Given the description of an element on the screen output the (x, y) to click on. 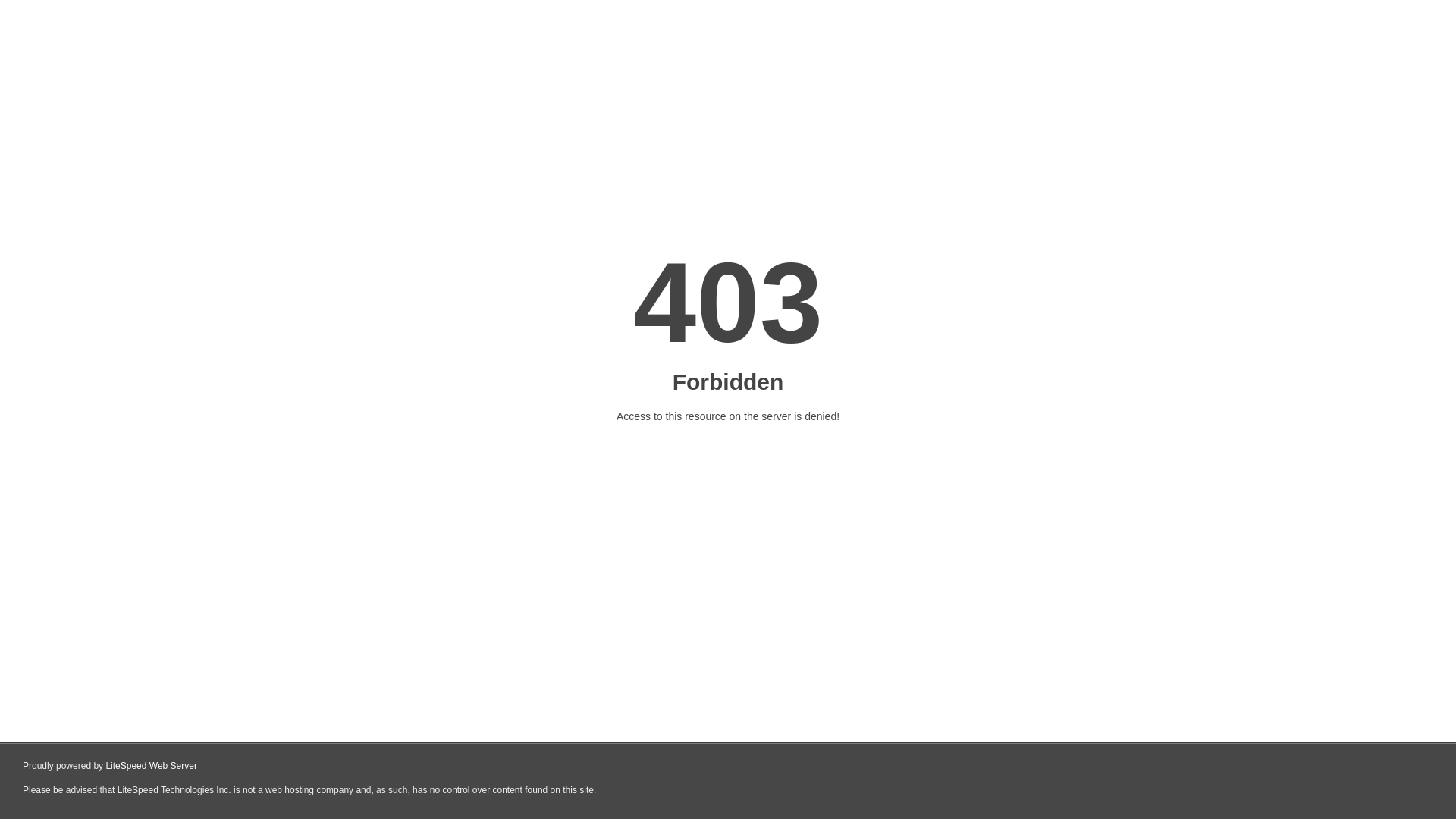
LiteSpeed Web Server Element type: text (151, 765)
